Given the description of an element on the screen output the (x, y) to click on. 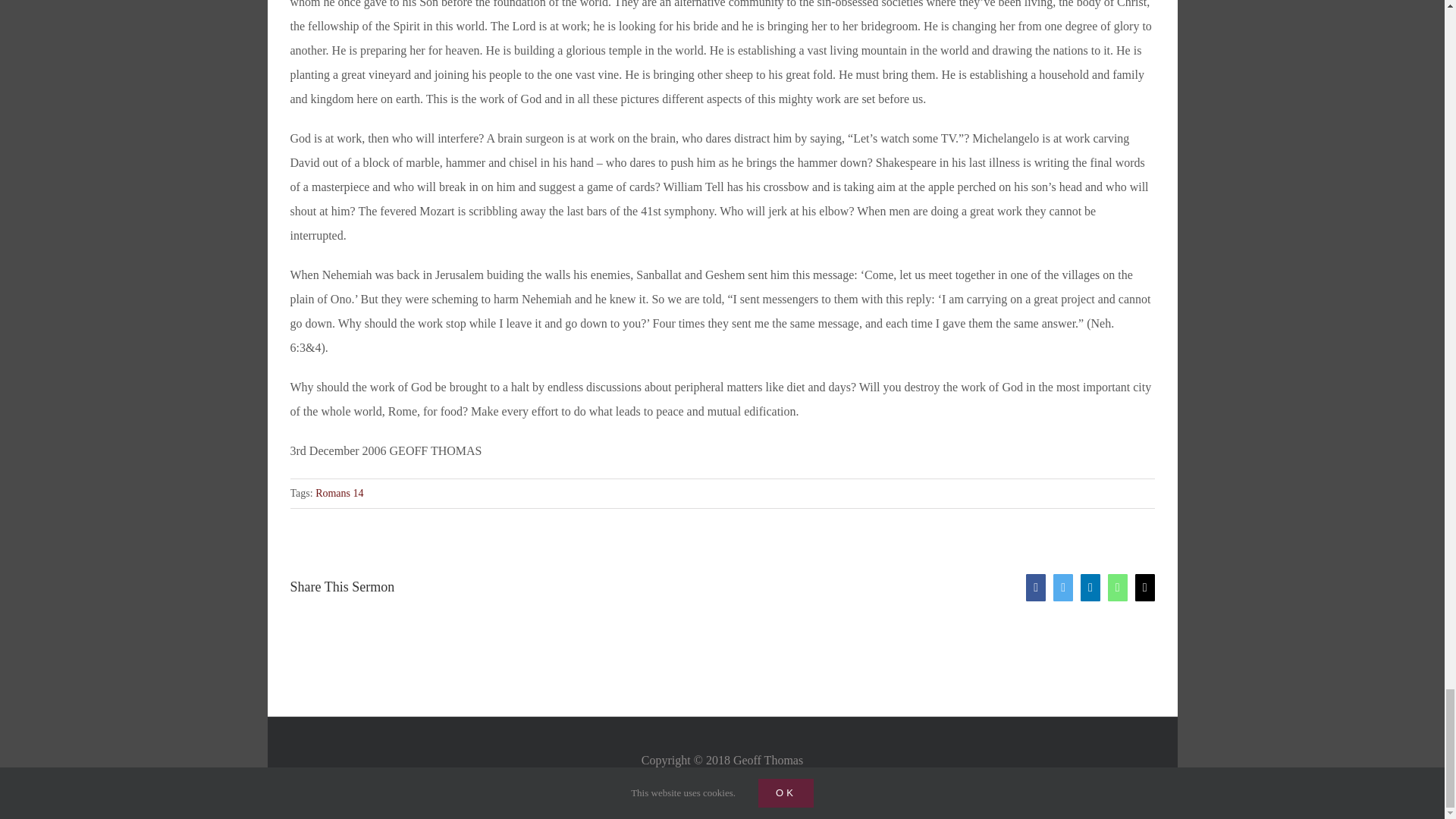
LinkedIn (1090, 587)
Twitter (1062, 587)
Romans 14 (338, 492)
Email (1144, 587)
Facebook (1035, 587)
WhatsApp (1117, 587)
